Given the description of an element on the screen output the (x, y) to click on. 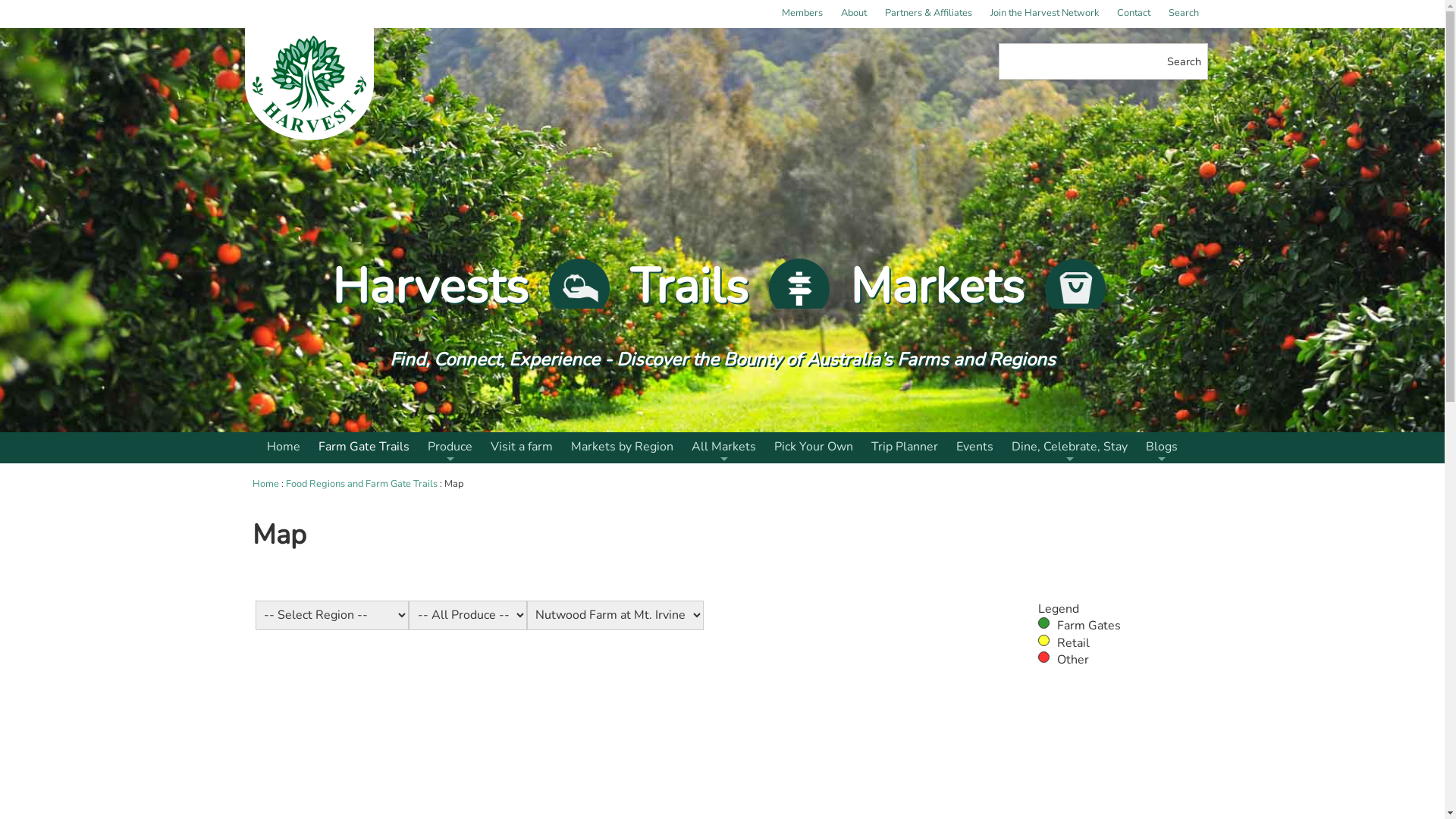
Search Element type: text (1182, 13)
Partners & Affiliates Element type: text (927, 13)
Join the Harvest Network Element type: text (1044, 13)
Home Element type: text (283, 446)
Contact Element type: text (1132, 13)
Blogs Element type: text (1161, 446)
All Markets Element type: text (723, 446)
Search Element type: text (1183, 61)
Visit a farm Element type: text (521, 446)
Produce Element type: text (449, 446)
Pick Your Own Element type: text (813, 446)
Events Element type: text (974, 446)
About Element type: text (853, 13)
Trip Planner Element type: text (904, 446)
Food Regions and Farm Gate Trails Element type: text (360, 483)
Dine, Celebrate, Stay Element type: text (1069, 446)
Home Element type: text (264, 483)
Farm Gate Trails Element type: text (363, 446)
Markets by Region Element type: text (621, 446)
Members Element type: text (801, 13)
